Given the description of an element on the screen output the (x, y) to click on. 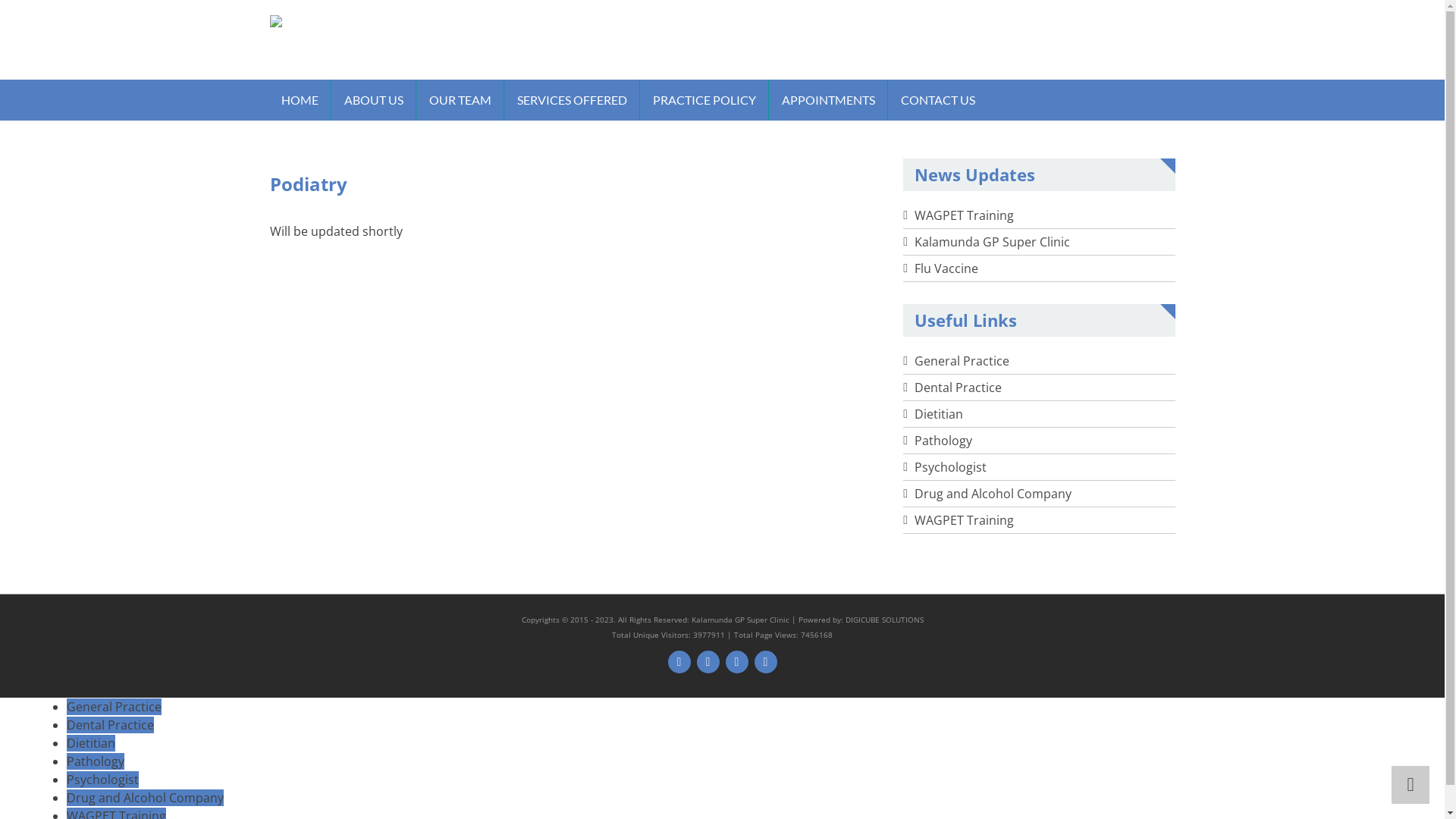
Dental Practice Element type: text (109, 724)
KALAMUNDA GP SUPER CLINIC Element type: text (458, 62)
Psychologist Element type: text (950, 466)
General Practice Element type: text (113, 706)
ABOUT US Element type: text (373, 99)
Kalamunda GP Super Clinic Element type: text (740, 619)
Drug and Alcohol Company Element type: text (144, 797)
DIGICUBE SOLUTIONS Element type: text (883, 619)
APPOINTMENTS Element type: text (828, 99)
Dental Practice Element type: text (957, 387)
Pathology Element type: text (943, 440)
Psychologist Element type: text (102, 779)
General Practice Element type: text (961, 360)
OUR TEAM Element type: text (459, 99)
PRACTICE POLICY Element type: text (704, 99)
SERVICES OFFERED Element type: text (571, 99)
Dietitian Element type: text (938, 413)
WAGPET Training Element type: text (963, 215)
Flu Vaccine Element type: text (946, 268)
Dietitian Element type: text (90, 742)
Pathology Element type: text (95, 761)
Kalamunda GP Super Clinic Element type: text (992, 241)
Drug and Alcohol Company Element type: text (992, 493)
HOME Element type: text (299, 99)
WAGPET Training Element type: text (963, 519)
CONTACT US Element type: text (936, 99)
